Given the description of an element on the screen output the (x, y) to click on. 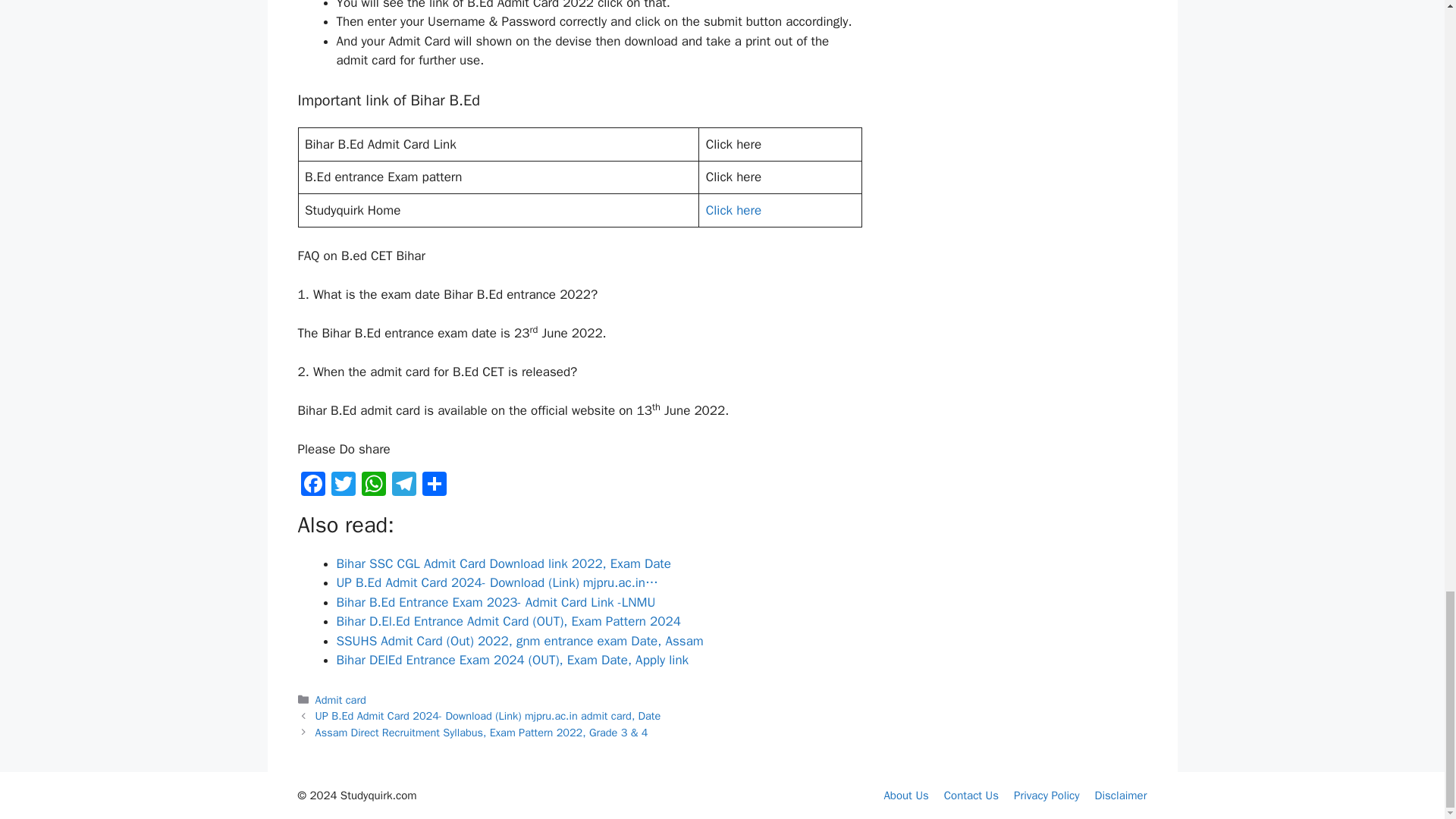
Facebook (312, 485)
Twitter (342, 485)
Telegram (403, 485)
Share (433, 485)
WhatsApp (373, 485)
Facebook (312, 485)
Twitter (342, 485)
Telegram (403, 485)
WhatsApp (373, 485)
Click here (733, 210)
Bihar SSC CGL Admit Card Download link 2022, Exam Date (503, 563)
